Given the description of an element on the screen output the (x, y) to click on. 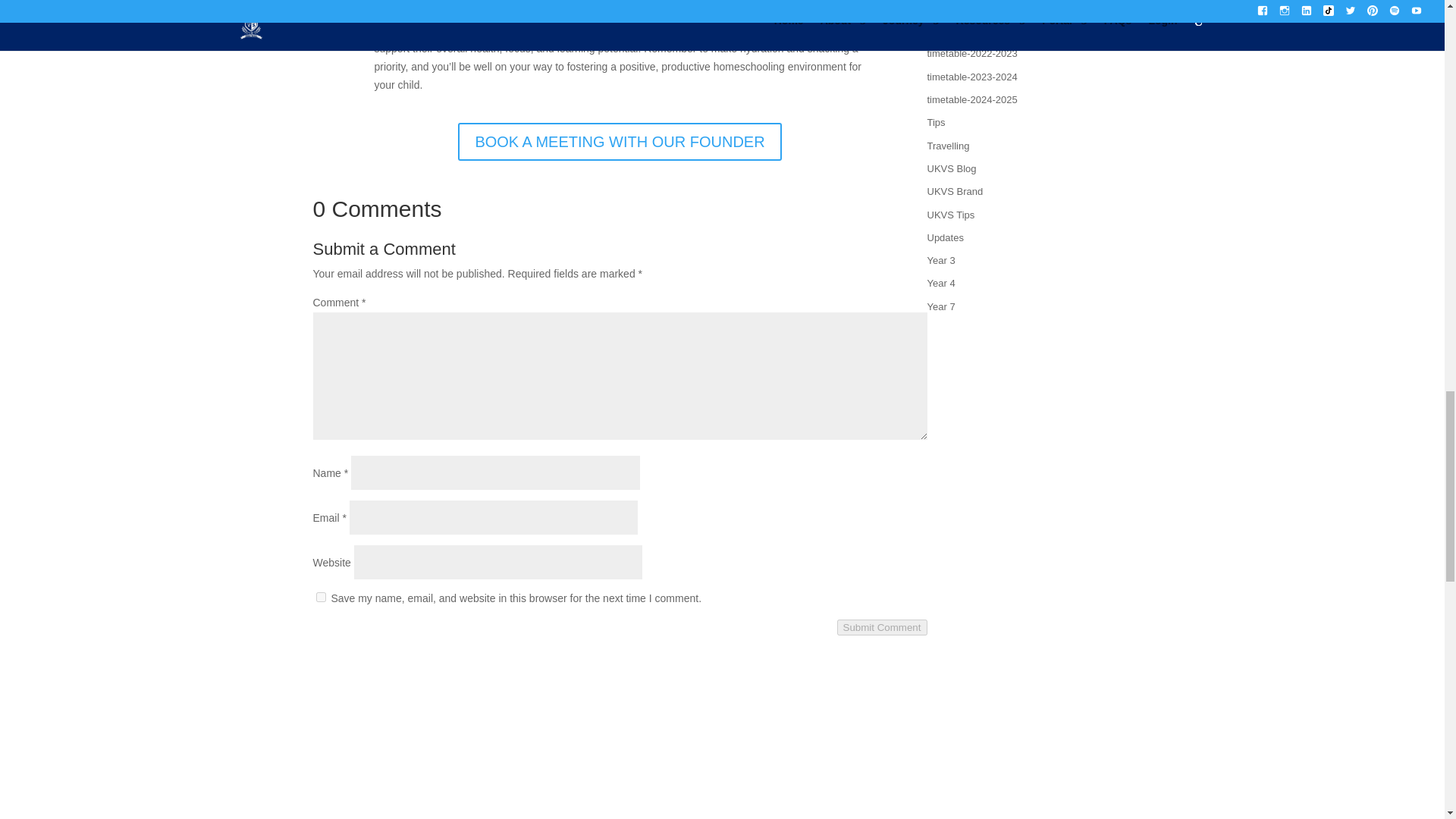
yes (319, 596)
